Given the description of an element on the screen output the (x, y) to click on. 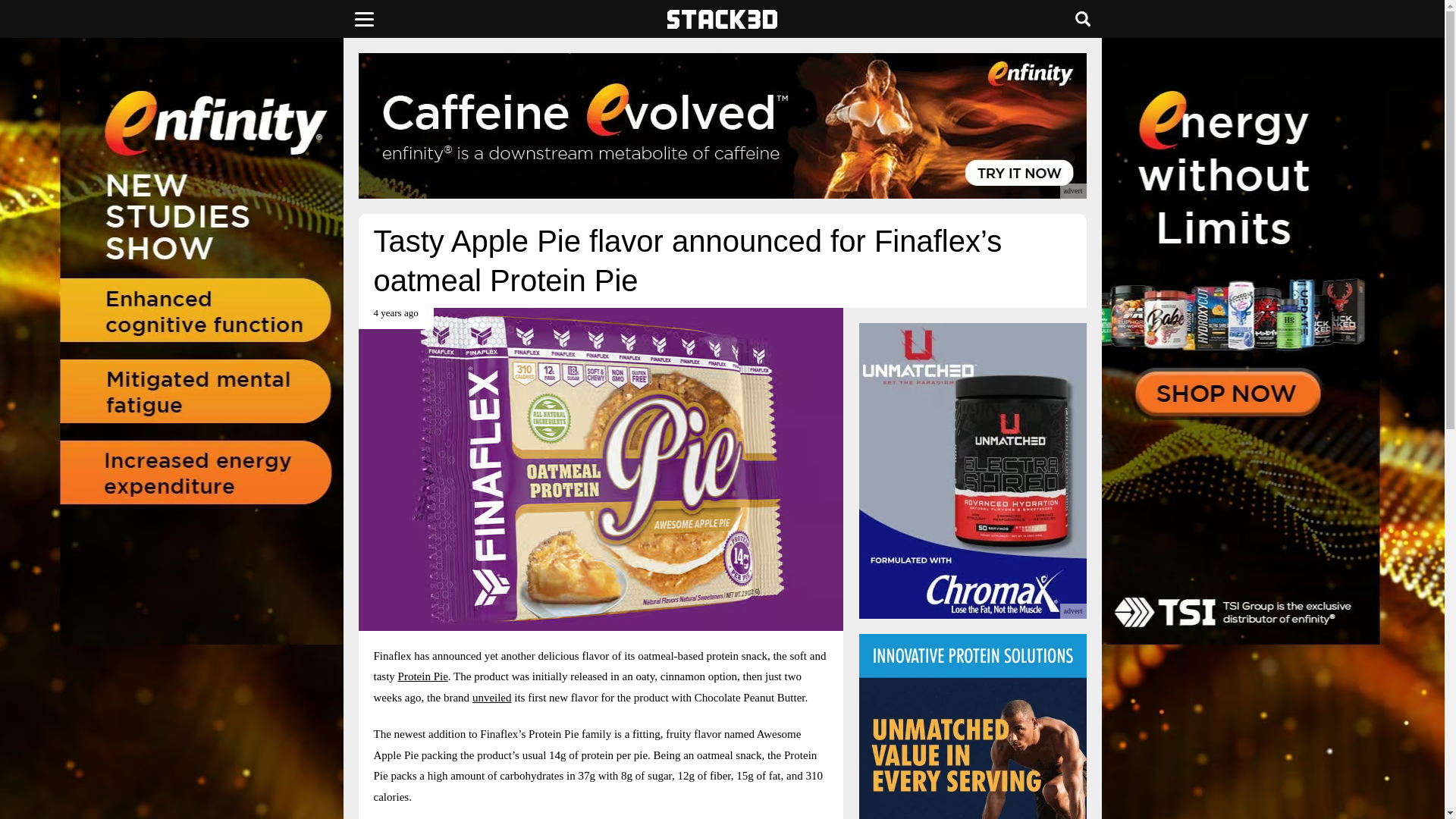
unveiled (491, 697)
Protein Pie (422, 676)
November 22nd 2019 (395, 318)
